Given the description of an element on the screen output the (x, y) to click on. 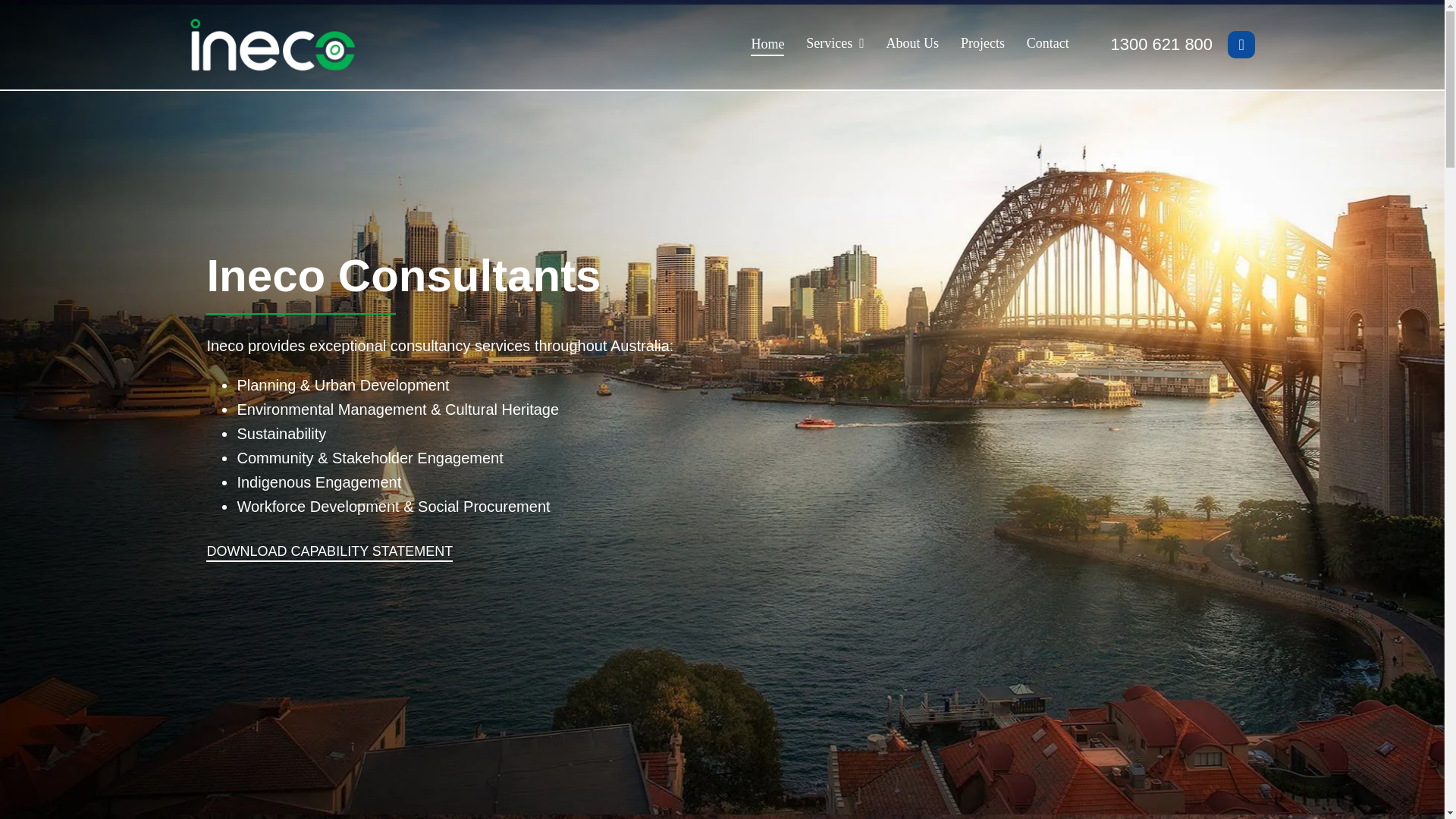
1300 621 800 (1161, 44)
Home (767, 44)
Projects (982, 44)
Services (835, 44)
About Us (912, 44)
Contact (1047, 44)
LinkedIn (1241, 44)
